Given the description of an element on the screen output the (x, y) to click on. 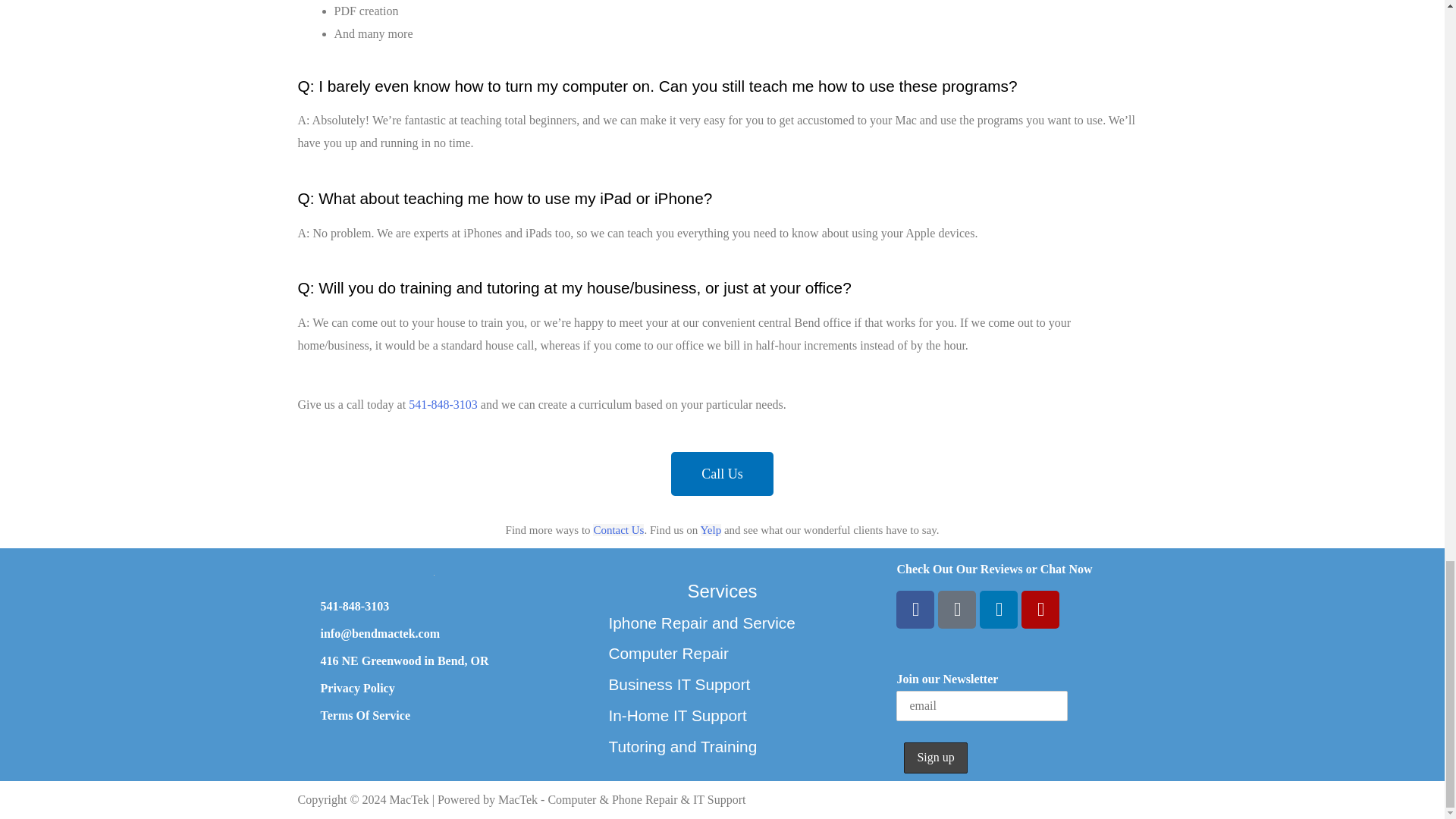
Linkedin (998, 609)
Privacy Policy (357, 687)
Iphone Repair and Service (701, 622)
Yelp (711, 530)
Facebook (915, 609)
Sign up (935, 757)
Google (956, 609)
Contact Us (617, 530)
Yelp (1040, 609)
416 NE Greenwood in Bend, OR (403, 660)
